Given the description of an element on the screen output the (x, y) to click on. 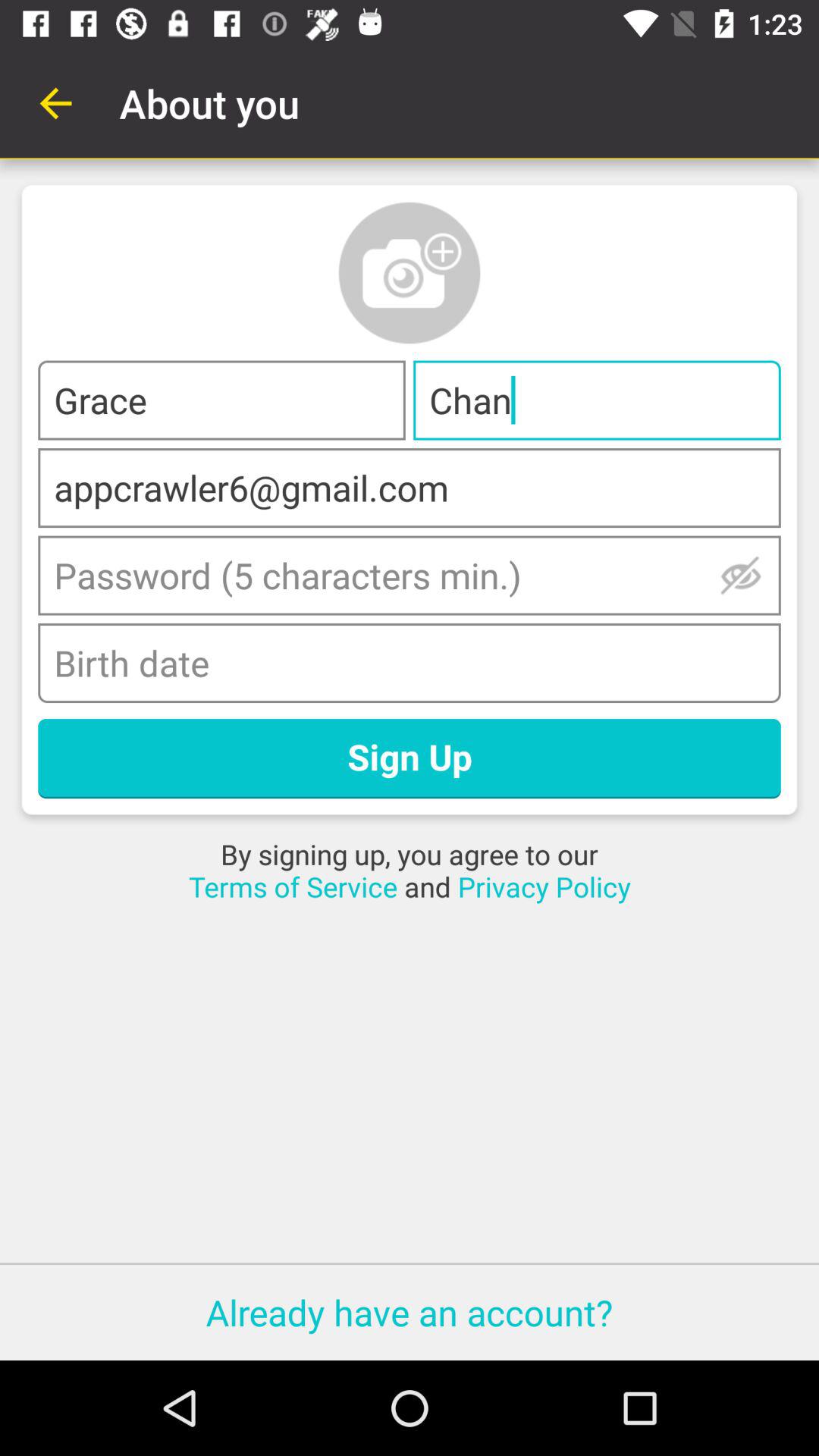
add photo (409, 272)
